Given the description of an element on the screen output the (x, y) to click on. 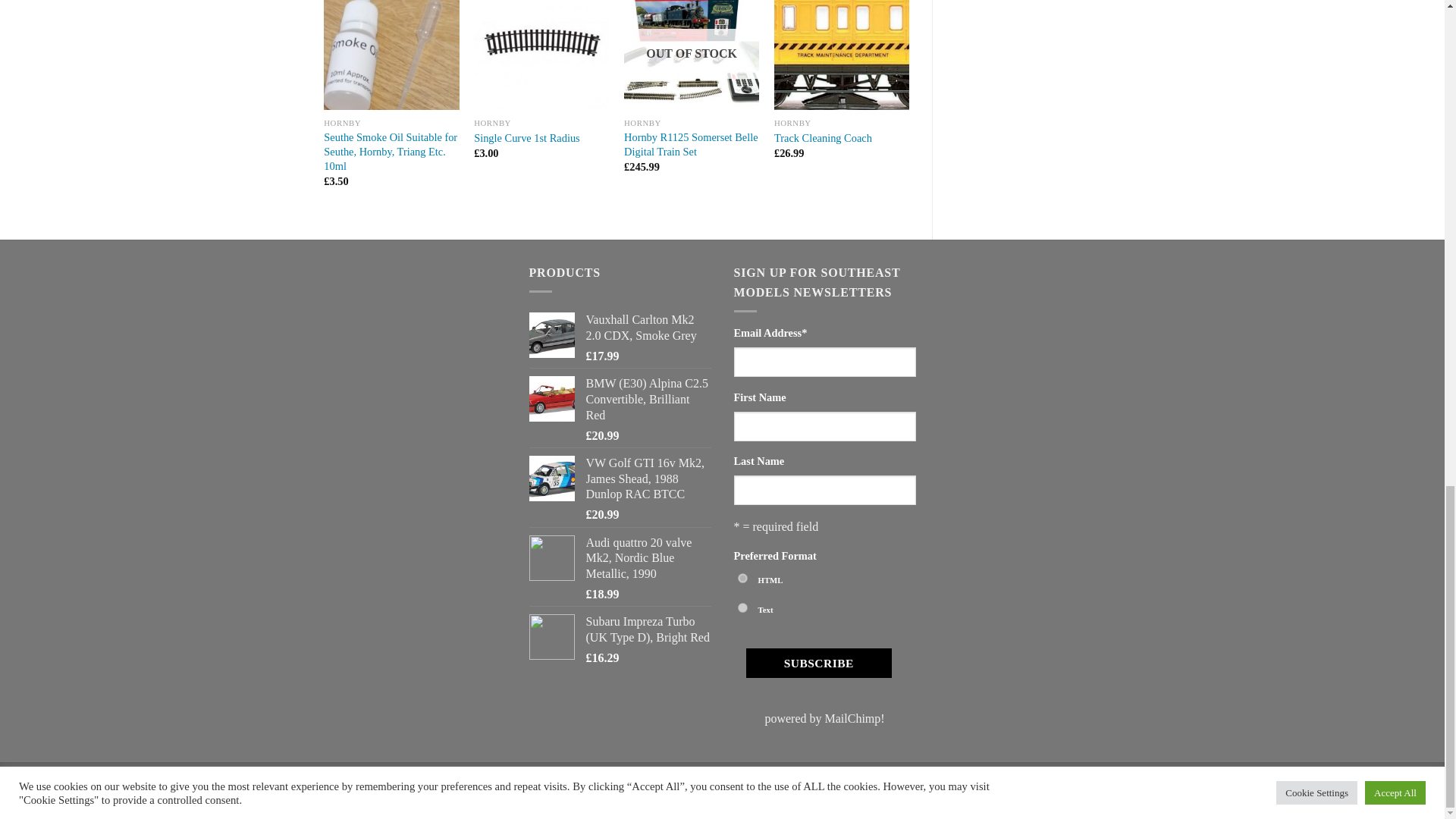
html (741, 578)
Subscribe (818, 663)
text (741, 607)
